Given the description of an element on the screen output the (x, y) to click on. 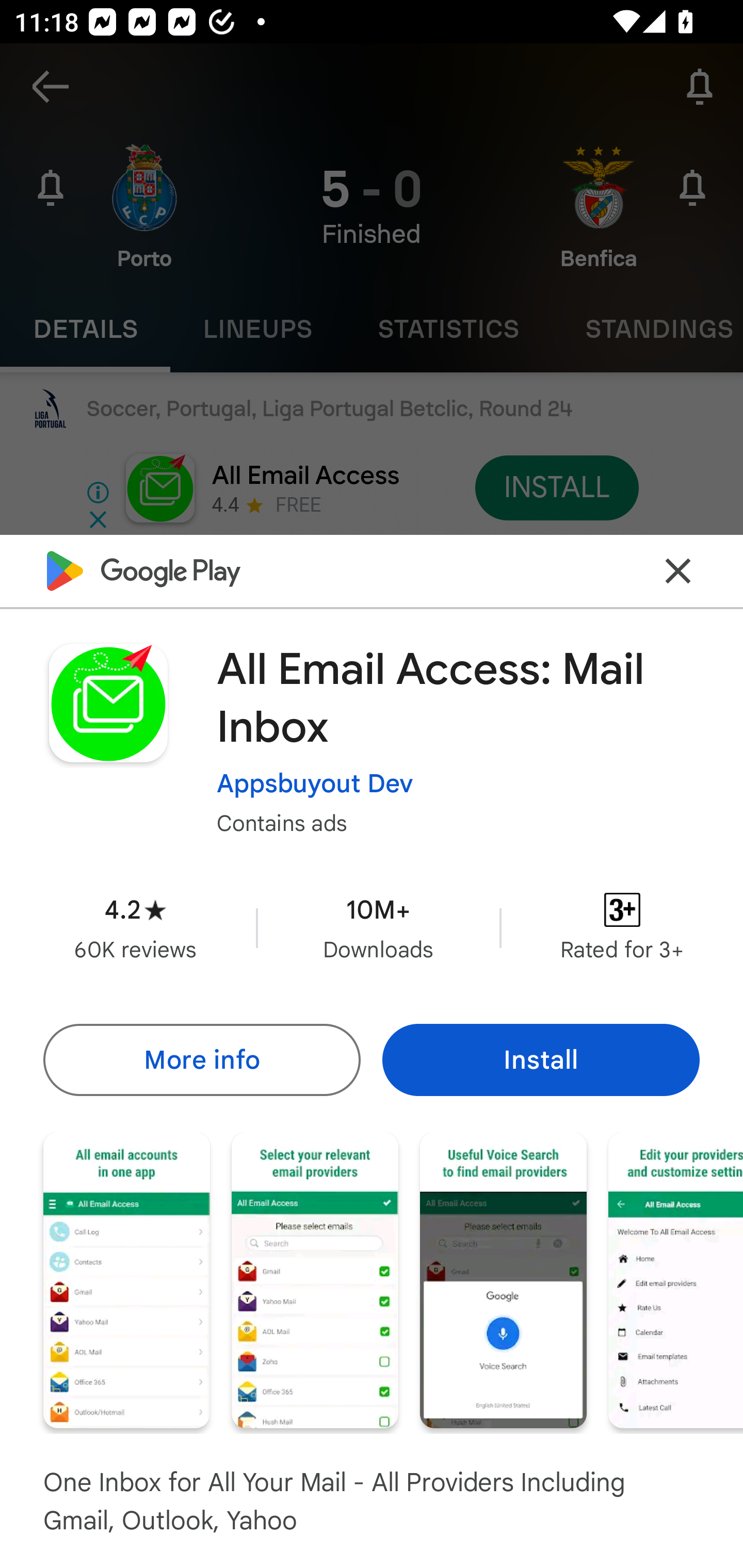
Close (677, 570)
Appsbuyout Dev (314, 782)
More info (201, 1059)
Install (540, 1059)
Screenshot "1" of "7" (126, 1280)
Screenshot "2" of "7" (314, 1280)
Screenshot "3" of "7" (502, 1280)
Screenshot "4" of "7" (675, 1280)
